Given the description of an element on the screen output the (x, y) to click on. 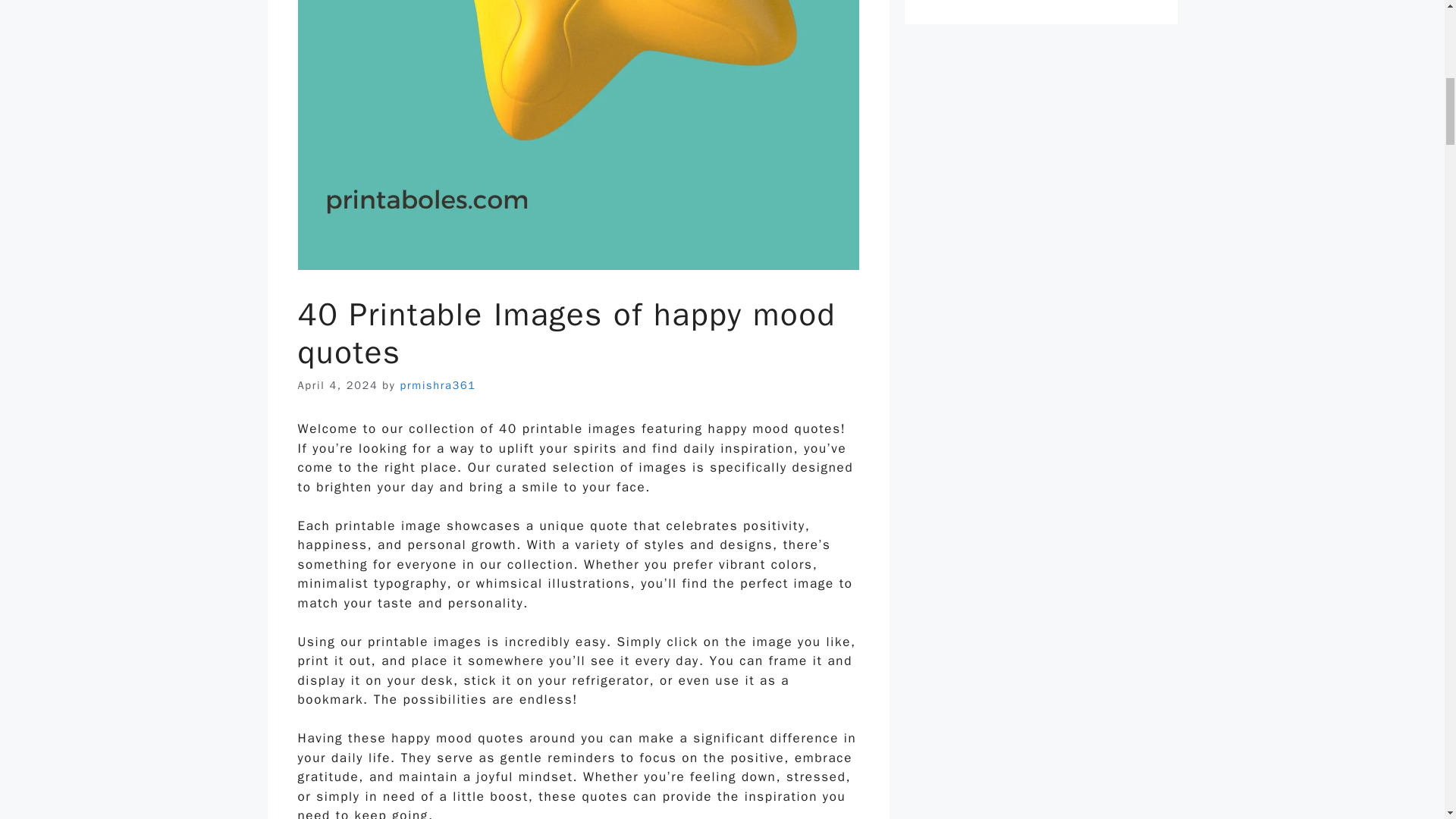
View all posts by prmishra361 (438, 385)
prmishra361 (438, 385)
